Given the description of an element on the screen output the (x, y) to click on. 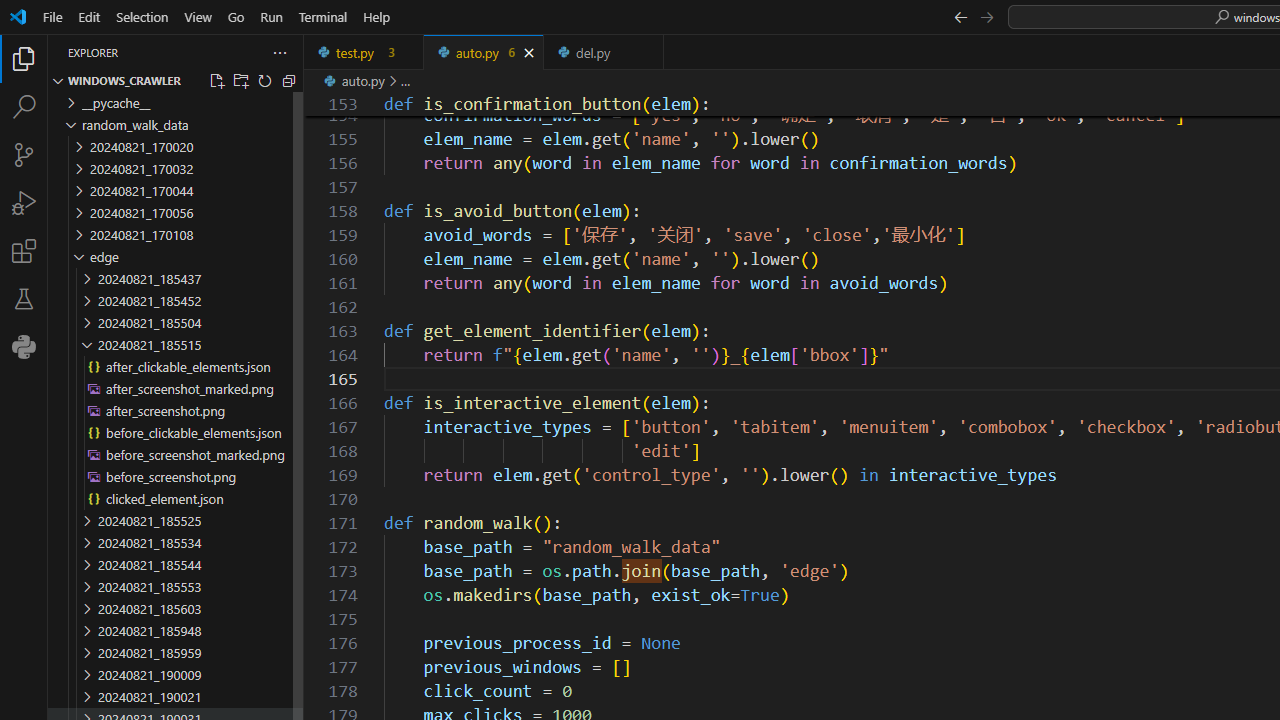
Selection (141, 16)
Explorer actions (208, 52)
New Folder... (240, 80)
View (198, 16)
del.py (604, 52)
Extensions (Ctrl+Shift+X) (24, 250)
Close (Ctrl+F4) (648, 52)
Run and Debug (Ctrl+Shift+D) (24, 202)
File (52, 16)
Terminal (322, 16)
Tab actions (648, 52)
Edit (89, 16)
New File... (216, 80)
Explorer (Ctrl+Shift+E) (24, 58)
Collapse Folders in Explorer (289, 80)
